Given the description of an element on the screen output the (x, y) to click on. 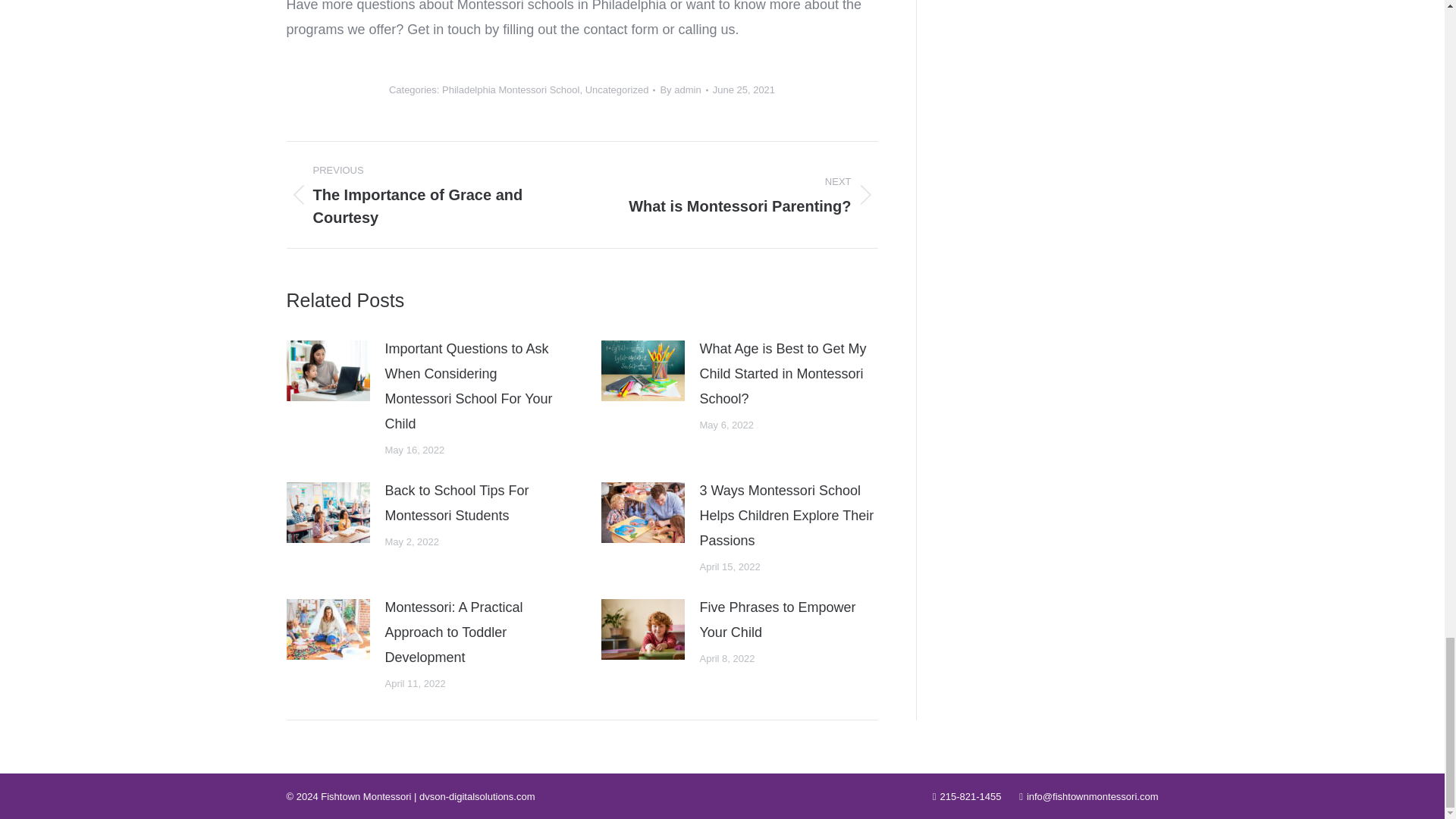
Uncategorized (617, 89)
View all posts by admin (683, 89)
12:03 pm (743, 89)
By admin (683, 89)
June 25, 2021 (743, 89)
Philadelphia Montessori School (510, 89)
